Given the description of an element on the screen output the (x, y) to click on. 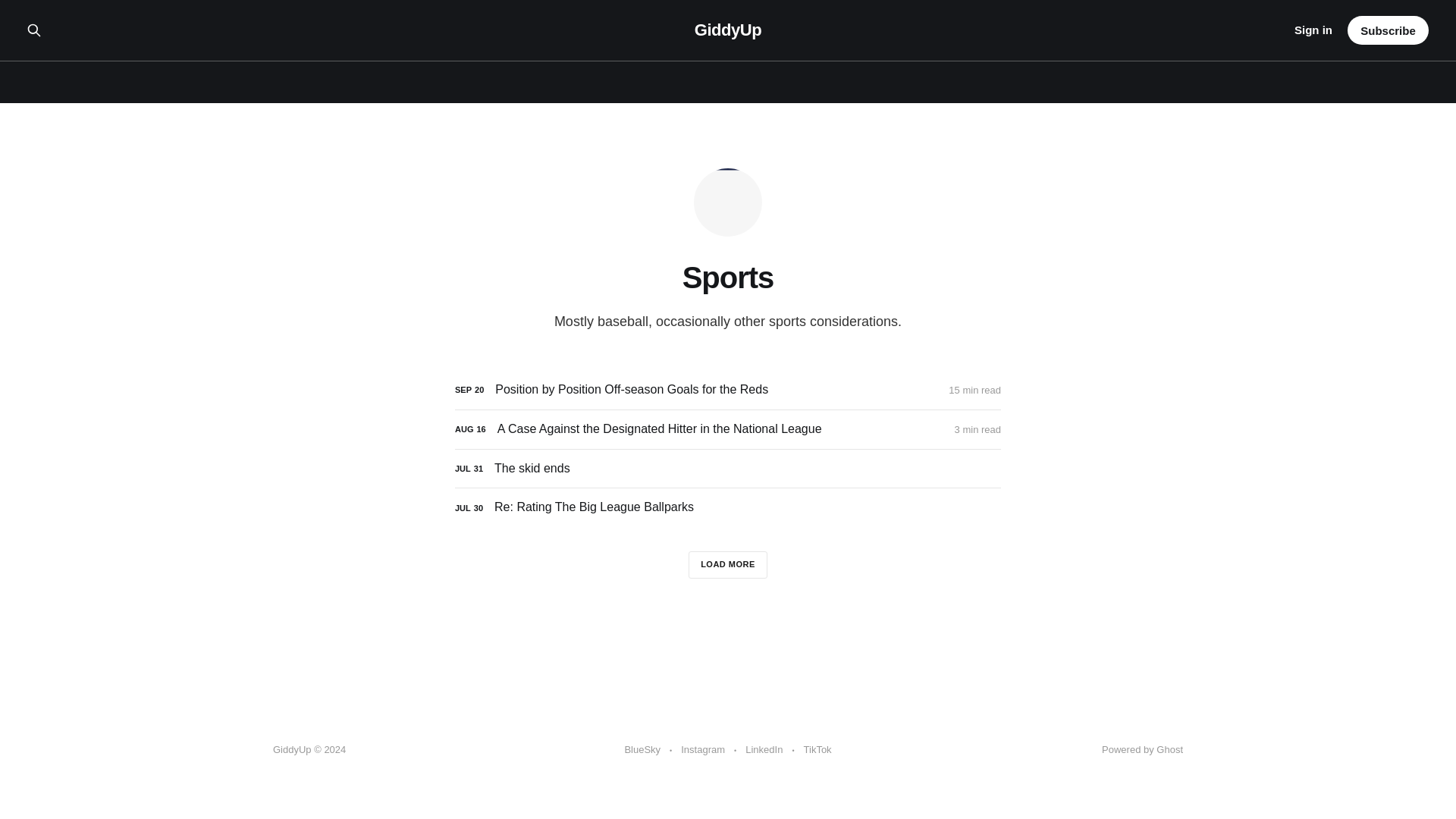
TikTok (817, 750)
LinkedIn (764, 750)
GiddyUp (727, 30)
Subscribe (1388, 30)
BlueSky (642, 750)
Powered by Ghost (1142, 749)
Instagram (703, 750)
Sign in (1313, 30)
LOAD MORE (727, 564)
